Given the description of an element on the screen output the (x, y) to click on. 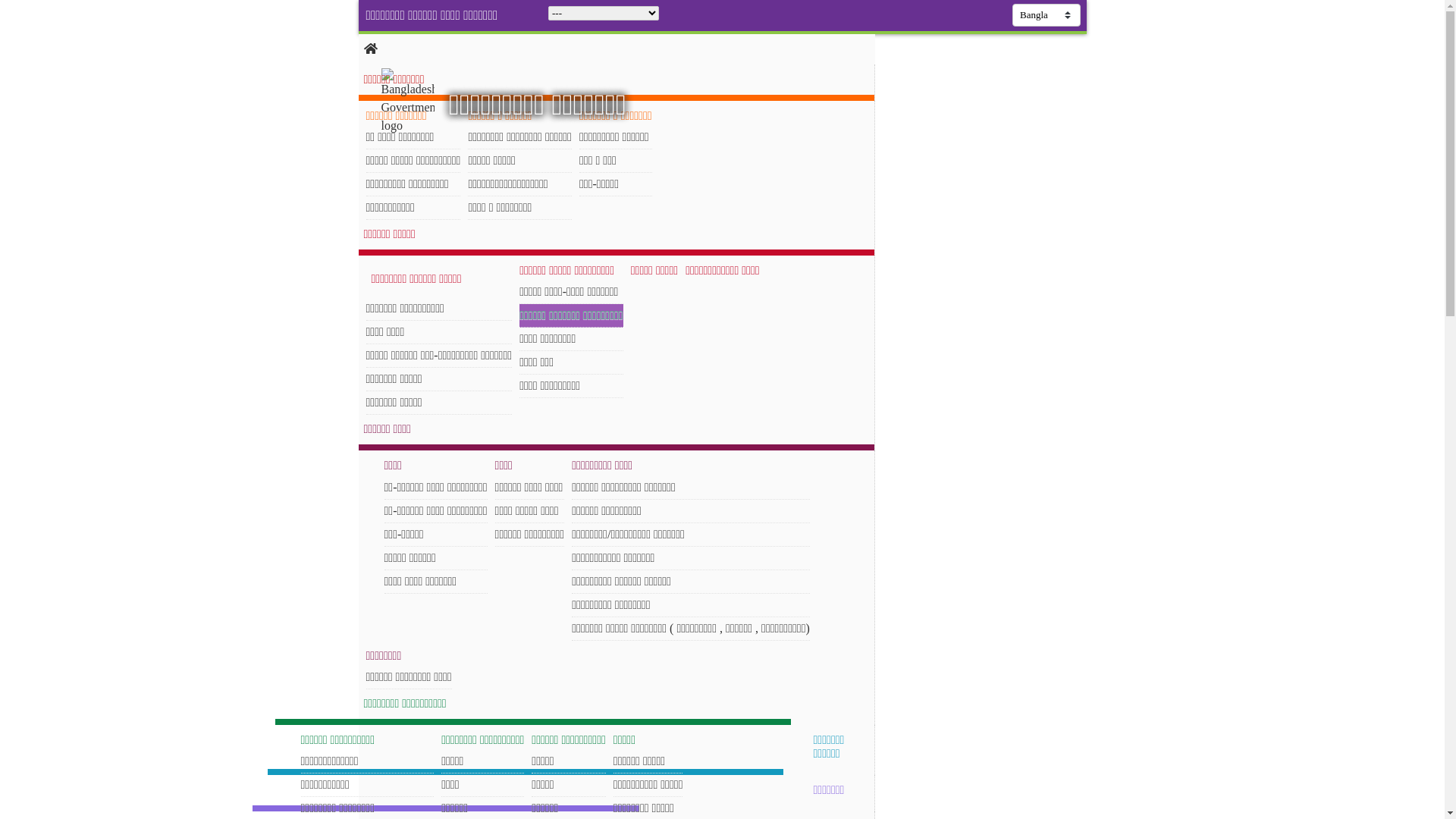

                
             Element type: hover (420, 101)
